Given the description of an element on the screen output the (x, y) to click on. 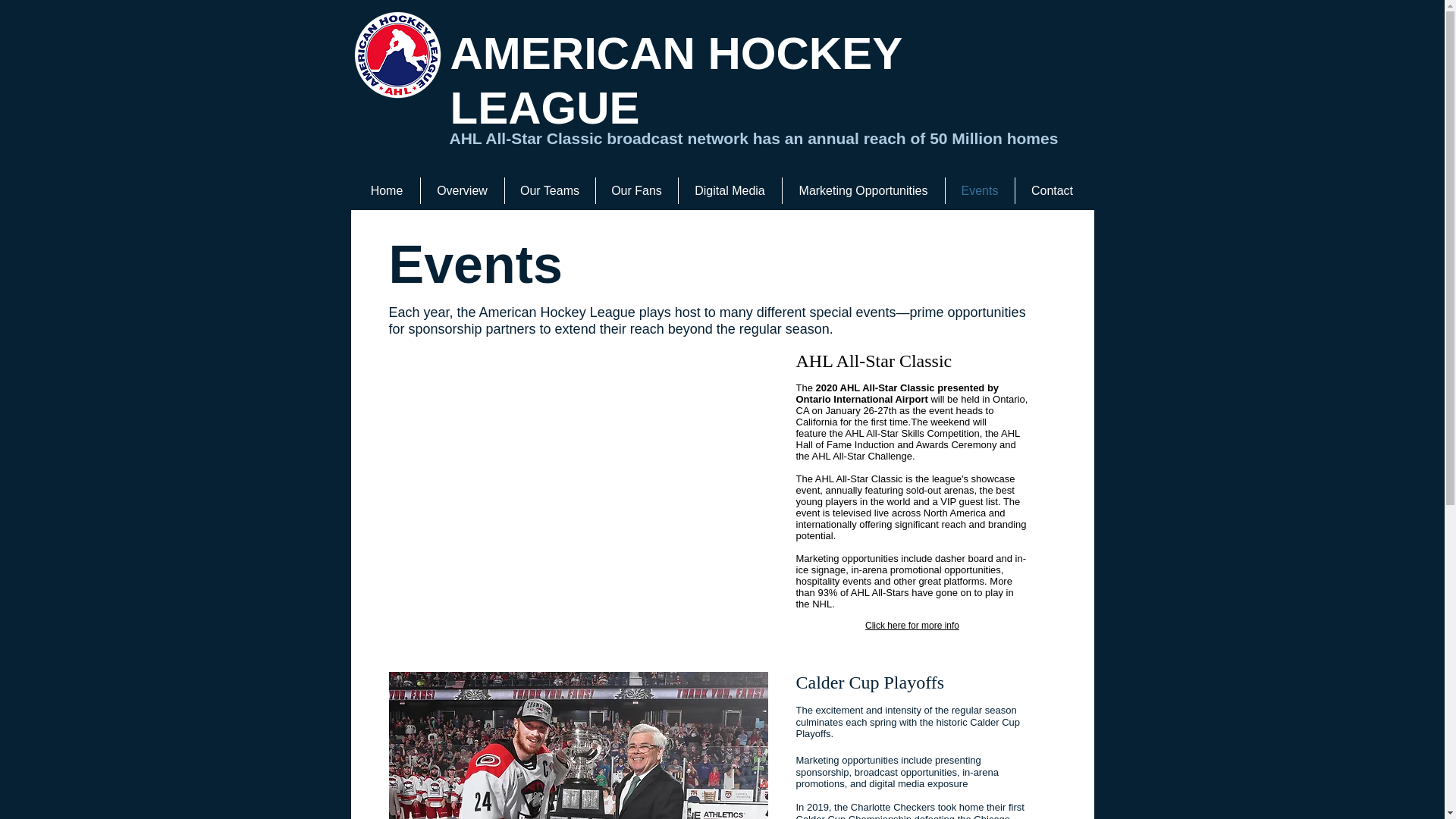
Digital Media (729, 190)
The (804, 387)
Our Fans (636, 190)
External YouTube (577, 489)
Our Teams (550, 190)
Events (978, 190)
Click here for more info (911, 624)
Home (386, 190)
Contact (1051, 190)
Overview (461, 190)
